Given the description of an element on the screen output the (x, y) to click on. 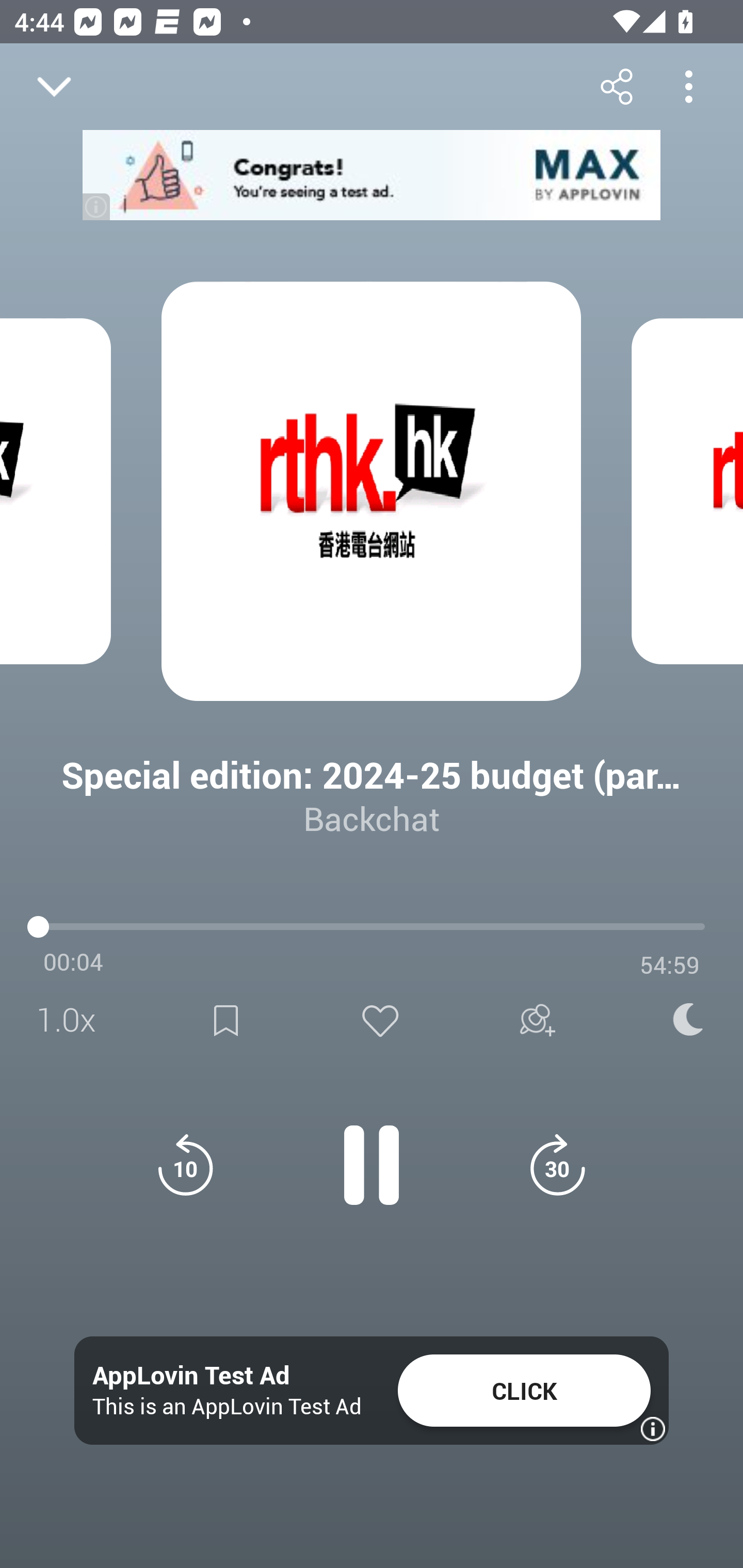
Close fullscreen player (54, 86)
Share (616, 86)
More options (688, 86)
app-monetization (371, 175)
(i) (96, 206)
Special edition: 2024-25 budget (part 1) Backchat (371, 780)
Backchat (371, 818)
54:59 (669, 964)
1.0x Speed (72, 1020)
Like (380, 1020)
Pause button (371, 1153)
Jump back (185, 1164)
Jump forward (557, 1164)
CLICK (523, 1390)
AppLovin Test Ad (191, 1375)
This is an AppLovin Test Ad (226, 1406)
